Given the description of an element on the screen output the (x, y) to click on. 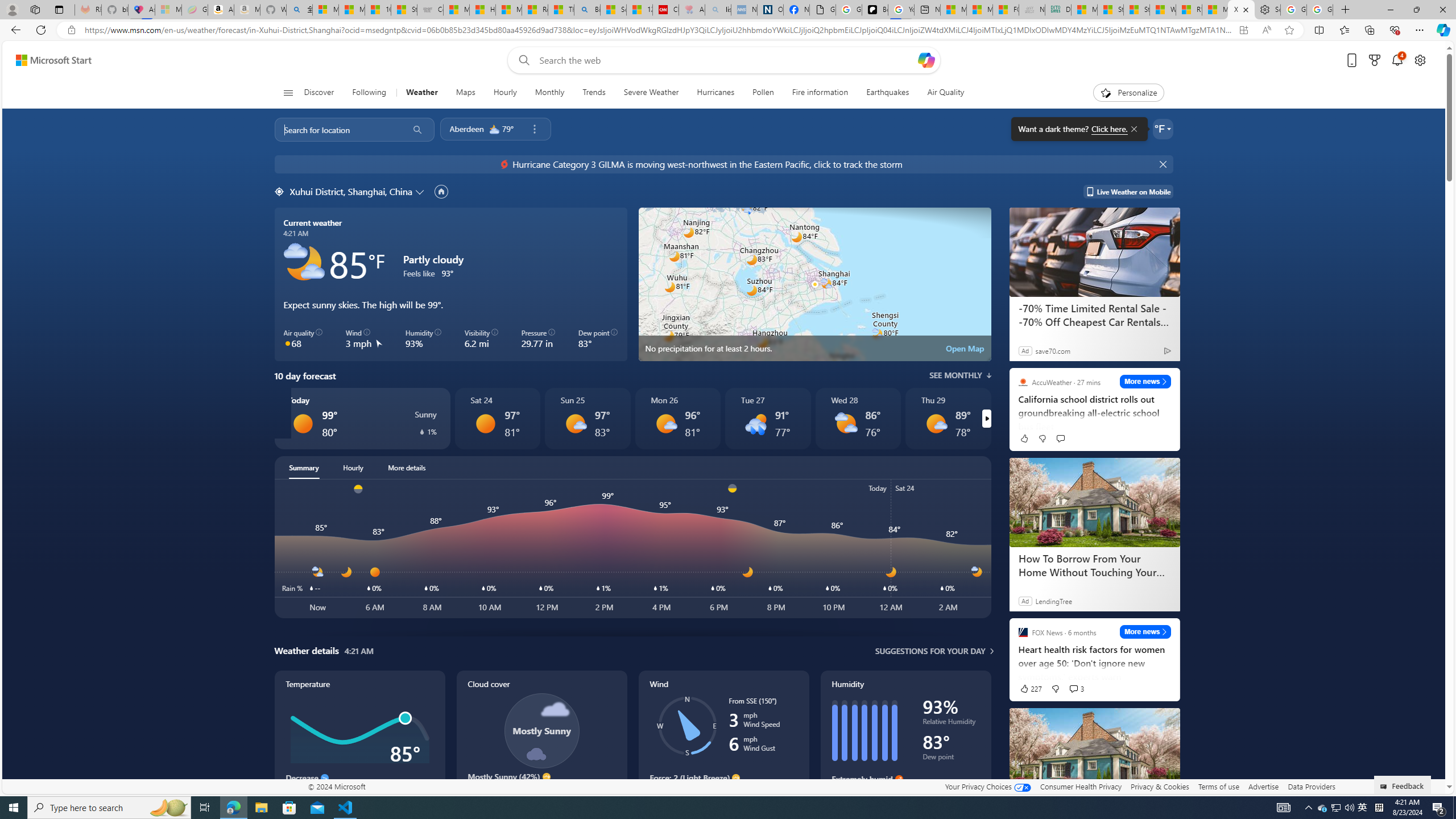
Hourly (352, 467)
Aberdeen (466, 129)
Terms of use (1218, 785)
static map image of vector map (814, 284)
